Given the description of an element on the screen output the (x, y) to click on. 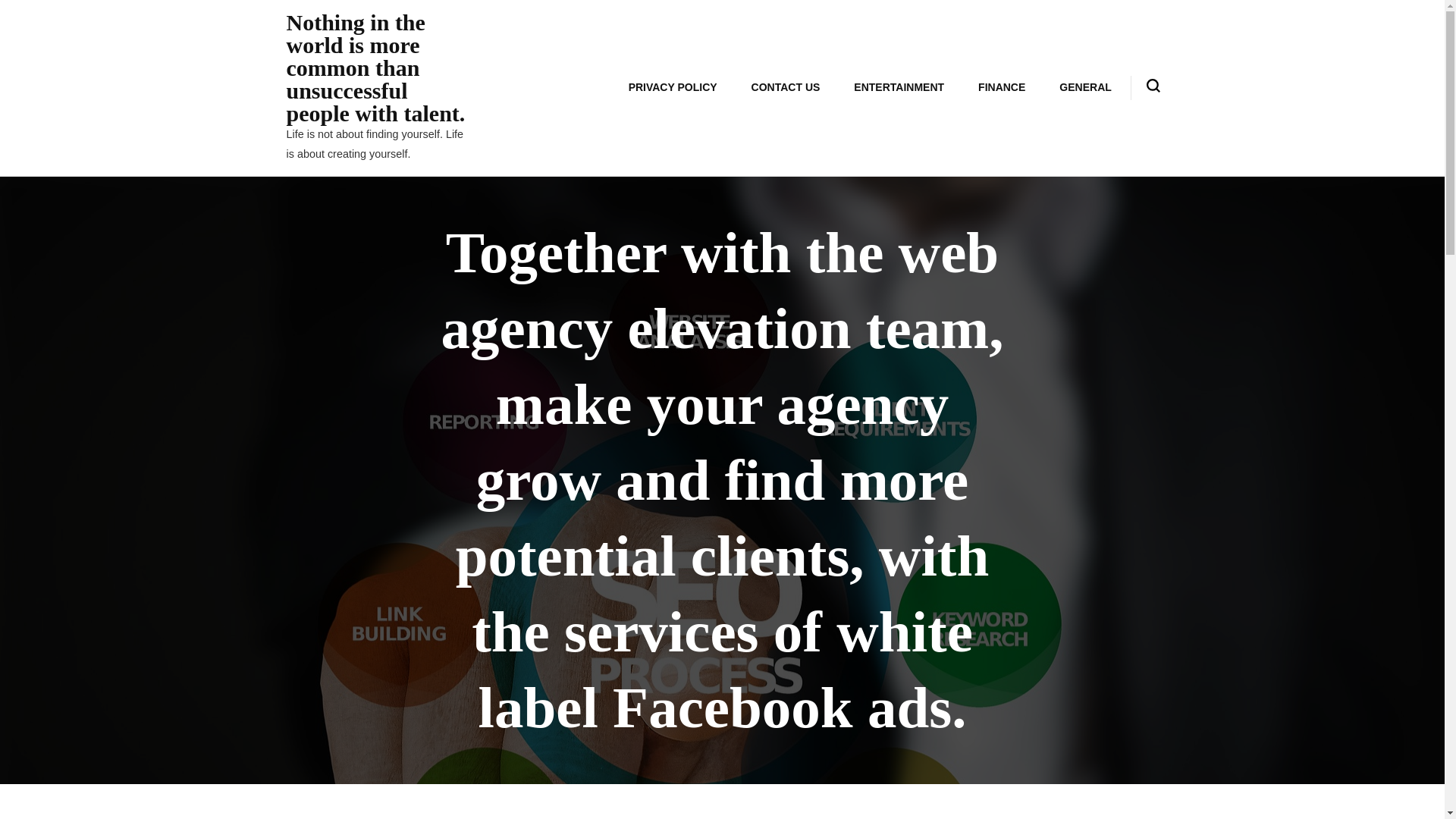
GENERAL (1084, 87)
ENTERTAINMENT (898, 87)
PRIVACY POLICY (672, 87)
FINANCE (1001, 87)
CONTACT US (785, 87)
